Given the description of an element on the screen output the (x, y) to click on. 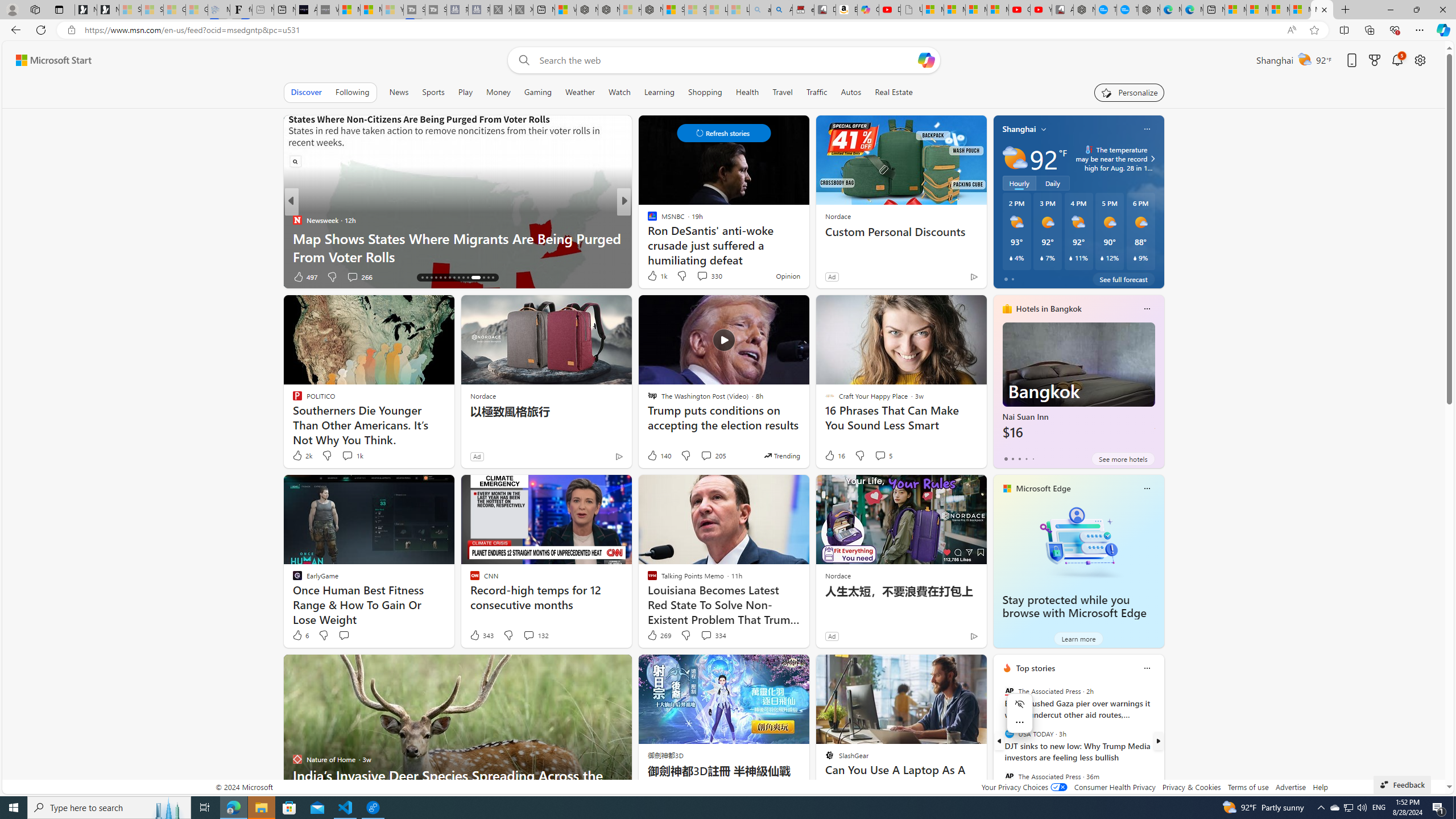
View comments 5 Comment (882, 455)
Shopping (705, 92)
Newsletter Sign Up (107, 9)
See more hotels (1123, 459)
Sports (432, 92)
The Associated Press (1008, 775)
LGBTQ Nation (647, 219)
AutomationID: tab-28 (481, 277)
Class: weather-arrow-glyph (1152, 158)
